Given the description of an element on the screen output the (x, y) to click on. 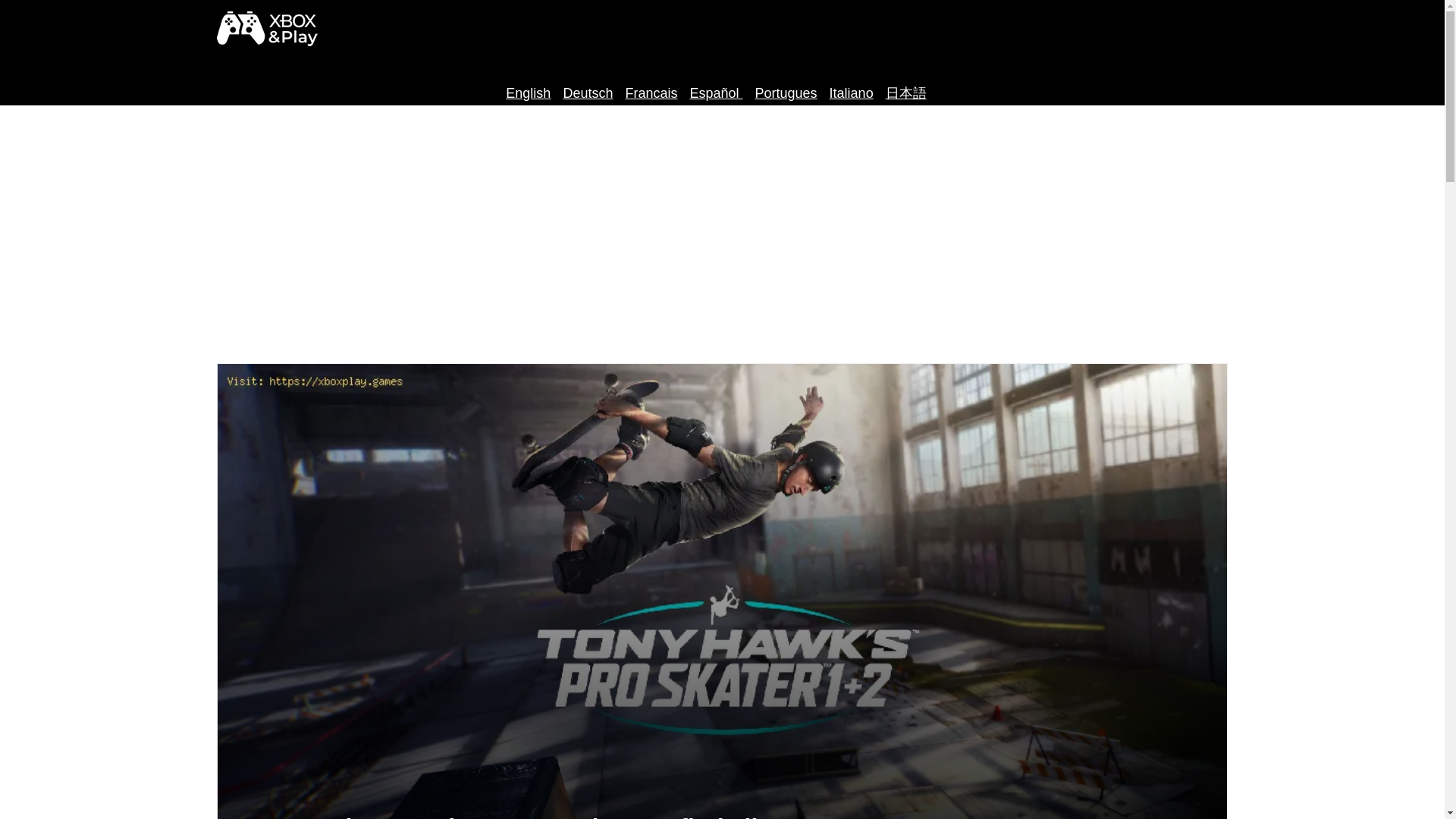
Deutsch (587, 92)
Portugues (785, 92)
Portugues (785, 92)
Italiano (851, 92)
Francais (650, 92)
English (527, 92)
Italiano (851, 92)
Francais (650, 92)
logo Xboxplay (266, 28)
Deutsch (587, 92)
English (527, 92)
